Given the description of an element on the screen output the (x, y) to click on. 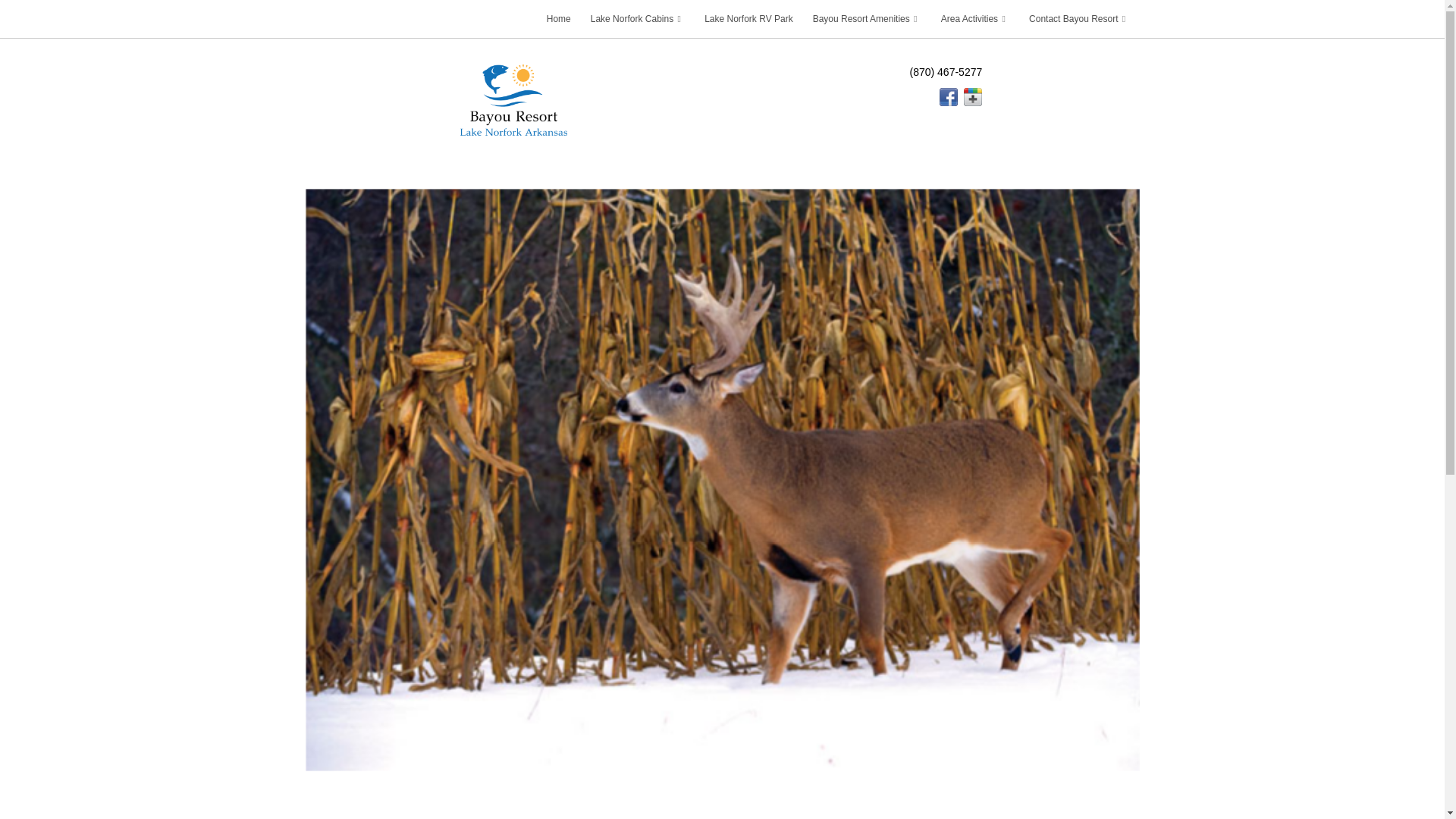
Lake Norfork RV Park (748, 18)
Contact Bayou Resort (1078, 18)
Home (558, 18)
The Bayou Resort (513, 99)
Lake Norfork Cabins (637, 18)
Bayou Resort Amenities (867, 18)
Area Activities (975, 18)
